Given the description of an element on the screen output the (x, y) to click on. 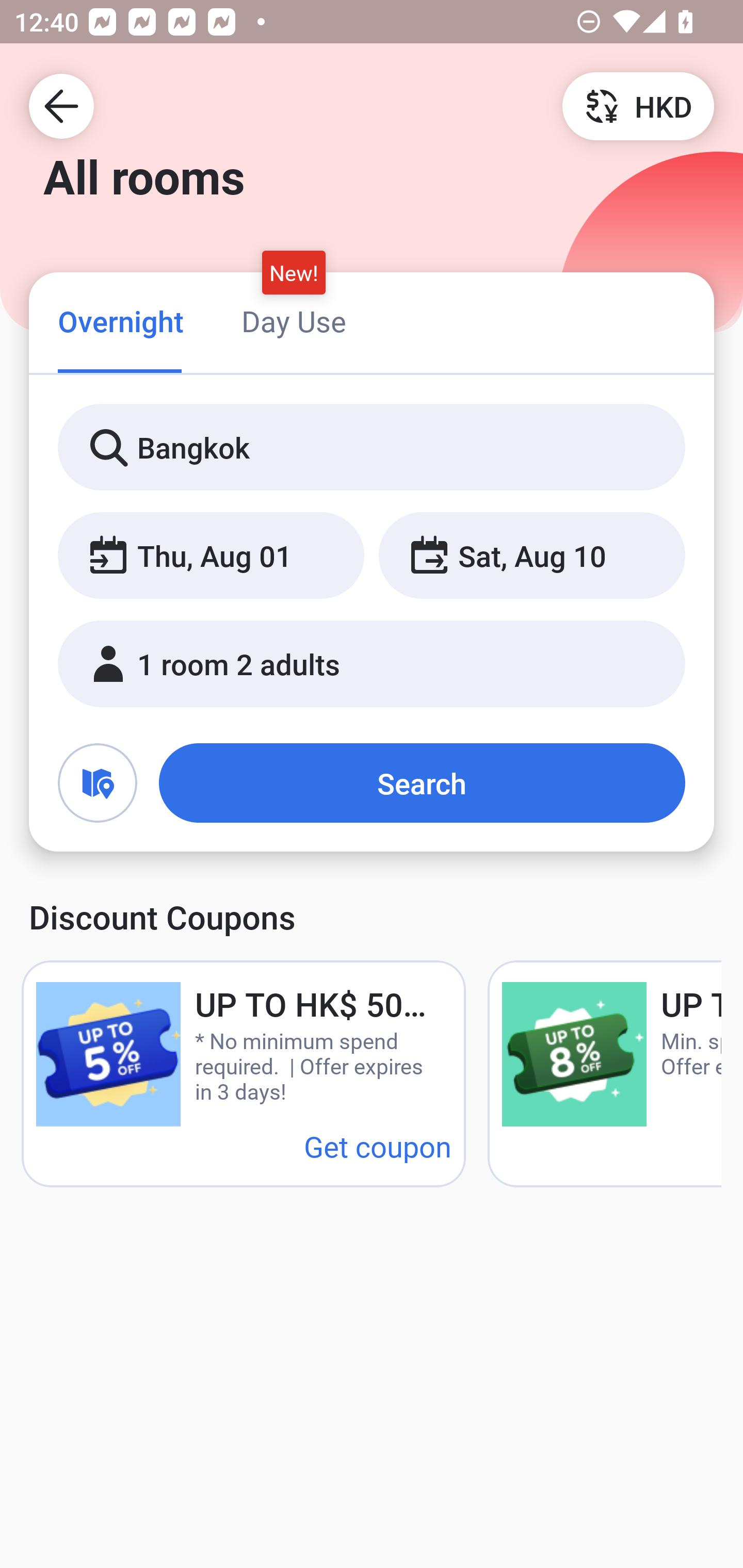
HKD (638, 105)
New! (294, 272)
Day Use (293, 321)
Bangkok (371, 447)
Thu, Aug 01 (210, 555)
Sat, Aug 10 (531, 555)
1 room 2 adults (371, 663)
Search (422, 783)
Get coupon (377, 1146)
